Given the description of an element on the screen output the (x, y) to click on. 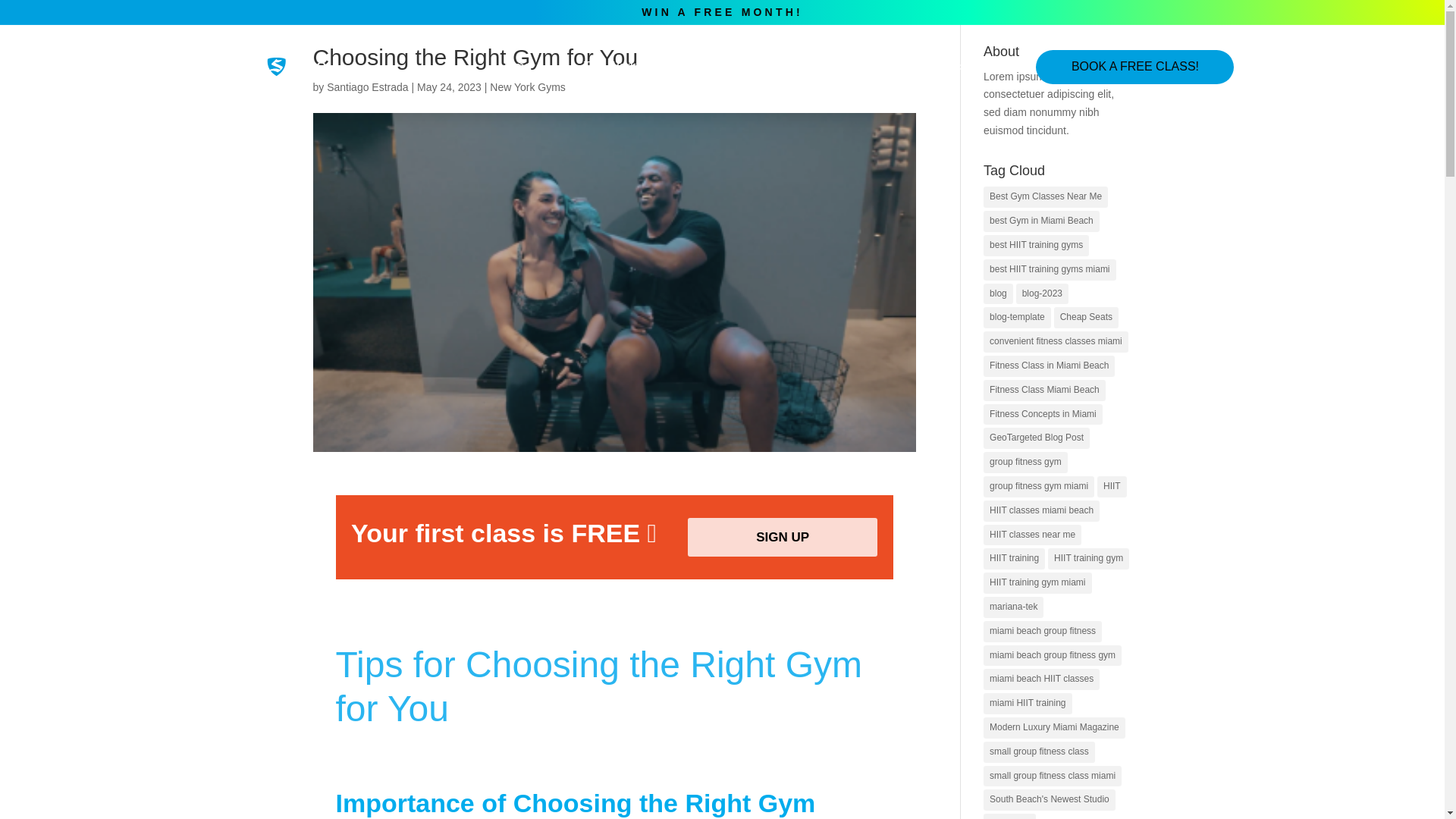
SIGN UP (782, 536)
blog-template (1017, 317)
blog (998, 293)
best HIIT training gyms miami (1050, 269)
Cheap Seats (1086, 317)
Fitness Class Miami Beach (1044, 390)
The Workout (617, 66)
Locations (732, 66)
GeoTargeted Blog Post (1036, 437)
Santiago Estrada (366, 87)
